Given the description of an element on the screen output the (x, y) to click on. 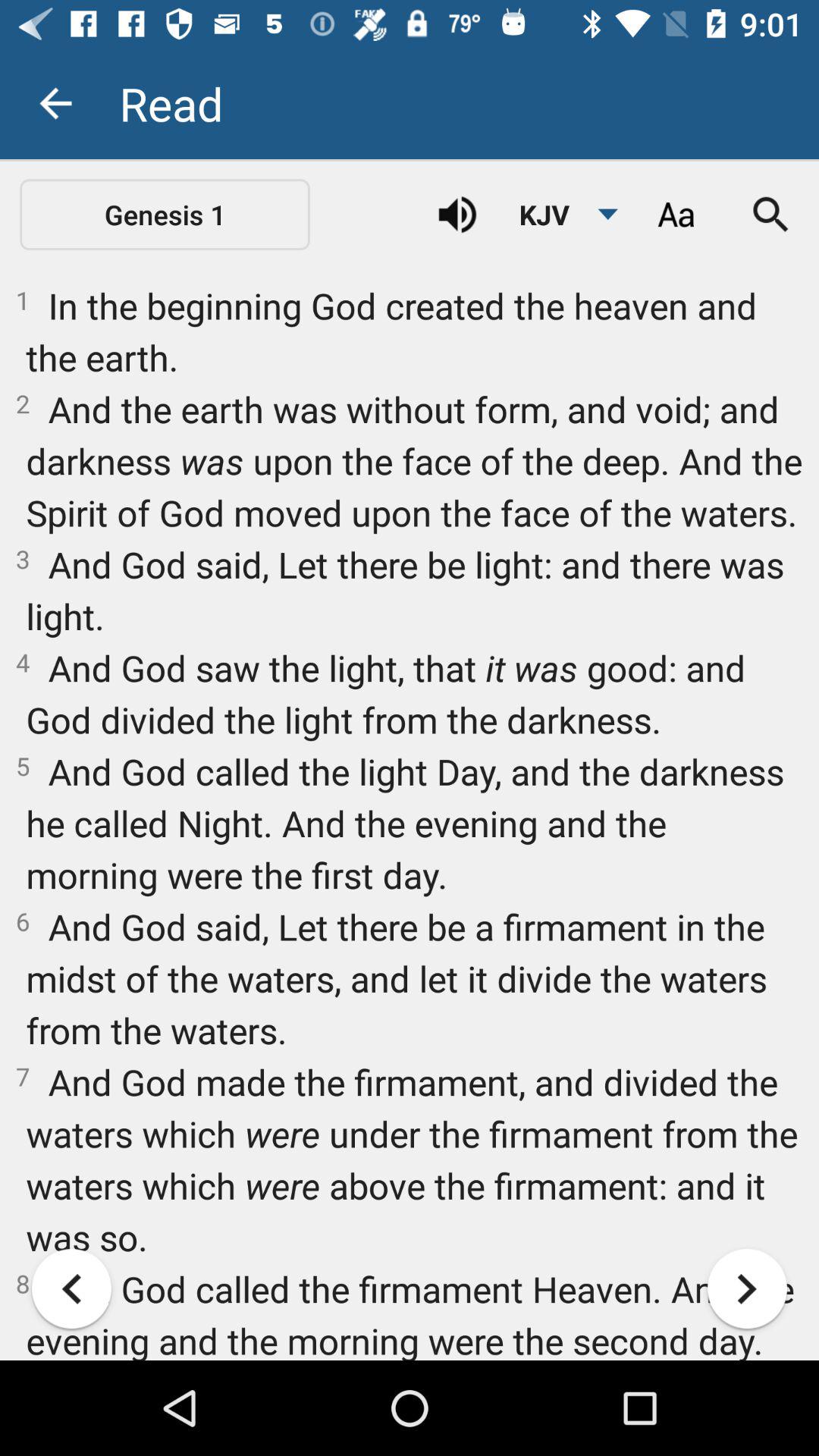
press app next to read item (55, 103)
